Given the description of an element on the screen output the (x, y) to click on. 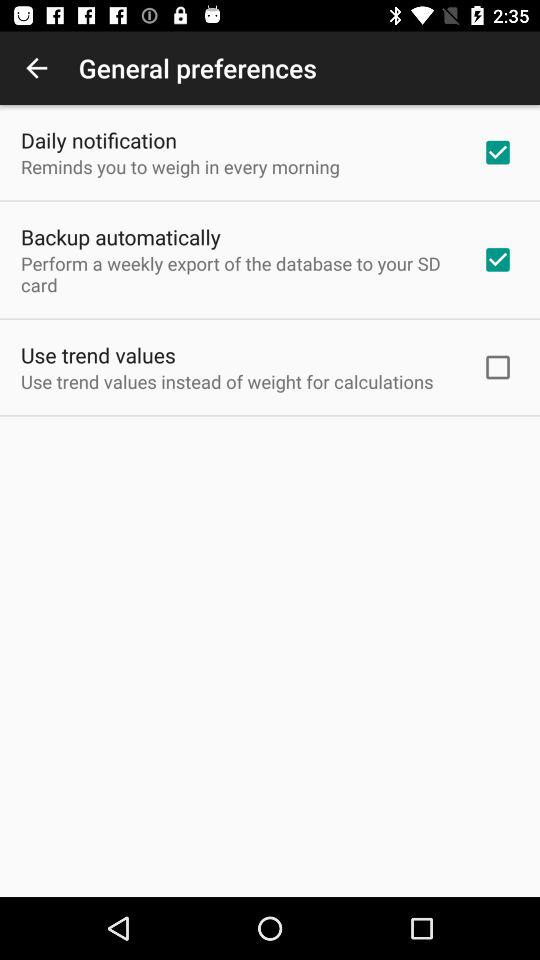
choose the reminds you to item (180, 166)
